Given the description of an element on the screen output the (x, y) to click on. 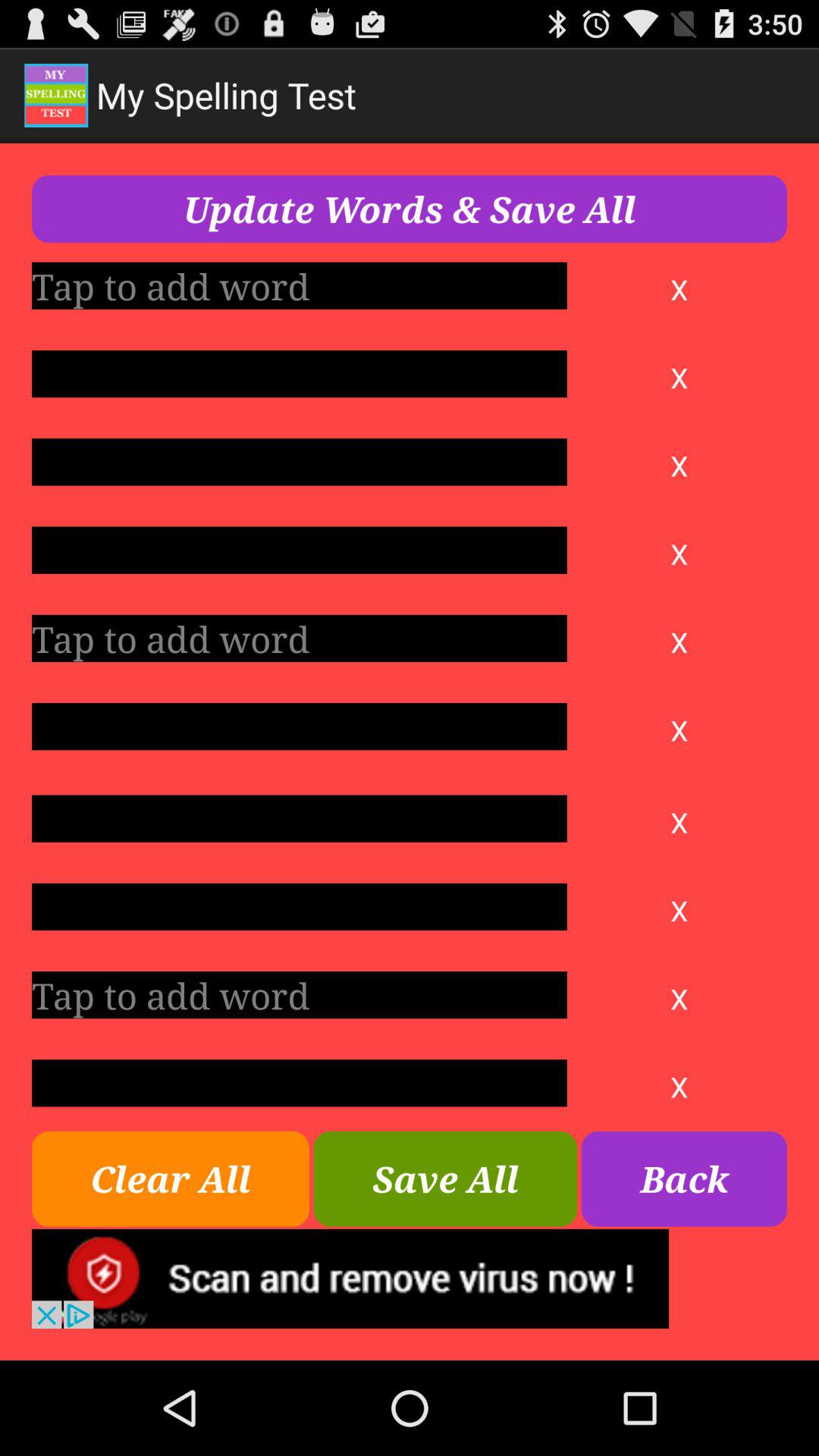
add word (299, 638)
